Given the description of an element on the screen output the (x, y) to click on. 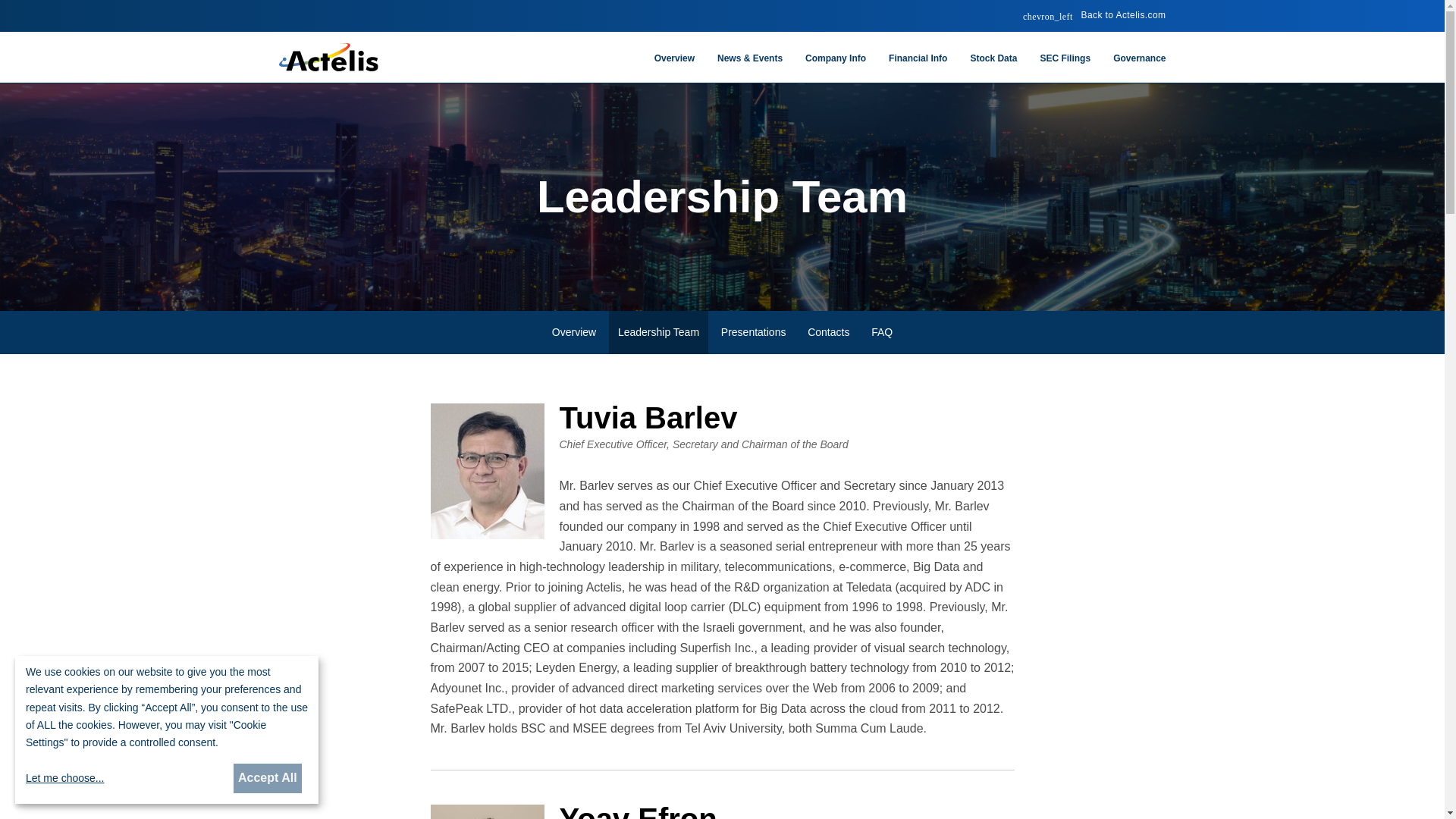
Governance (1134, 66)
Overview (674, 66)
Financial Info (917, 66)
Stock Data (992, 66)
Yoav Efron (487, 811)
SEC Filings (1064, 66)
Opens in a new window (1094, 14)
Company Info (835, 66)
Back to Actelis.com (1094, 14)
